Given the description of an element on the screen output the (x, y) to click on. 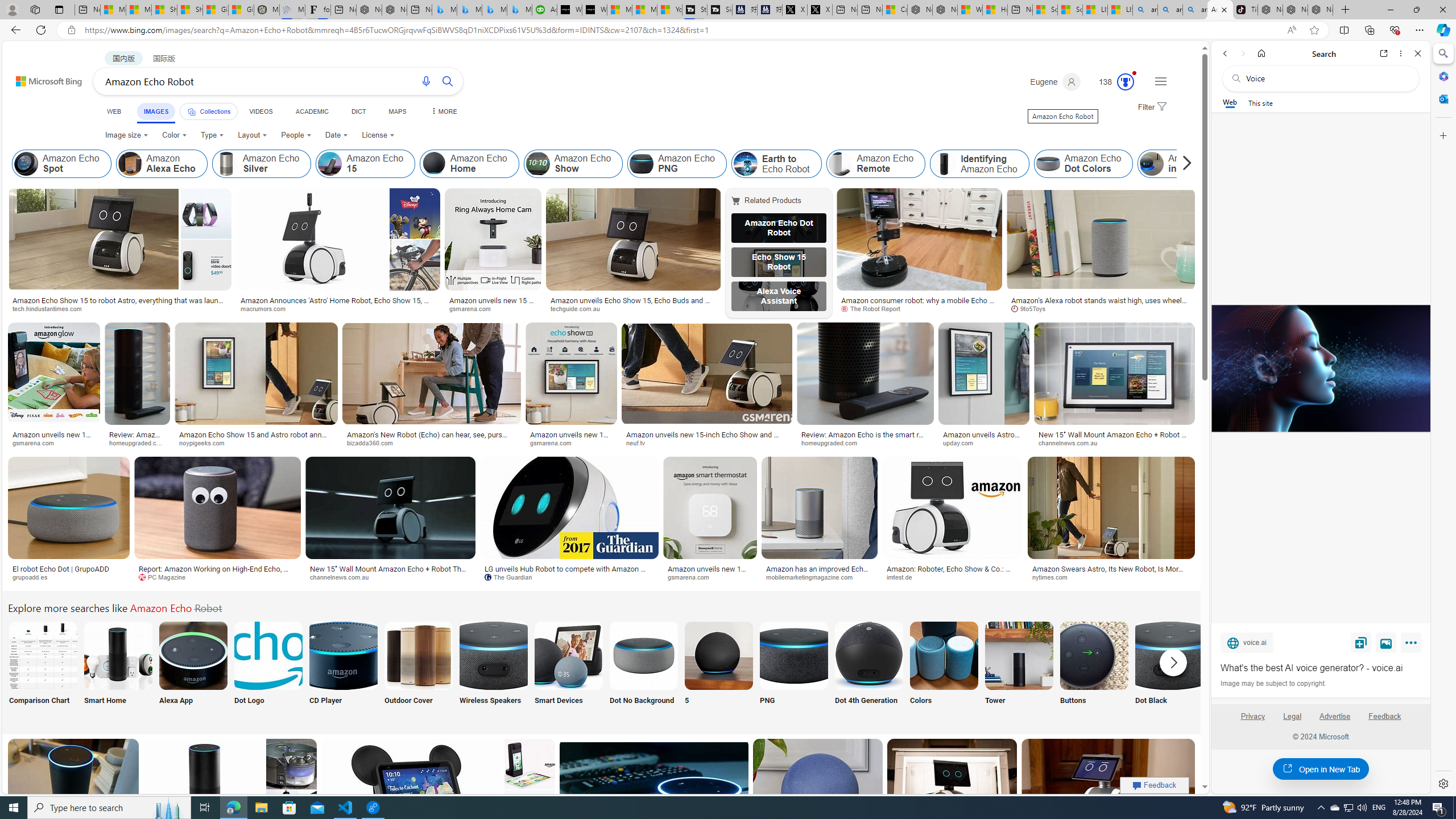
Amazon Echo Colors Colors (944, 669)
Amazon Echo Buttons (1093, 654)
9to5Toys (1032, 308)
Amazon Alexa Echo (129, 163)
Alexa App. Amazon Echo (192, 654)
Smart Devices (568, 669)
Dot No Background (644, 669)
Privacy (1252, 720)
Amazon Echo Wireless Speakers (493, 654)
